Given the description of an element on the screen output the (x, y) to click on. 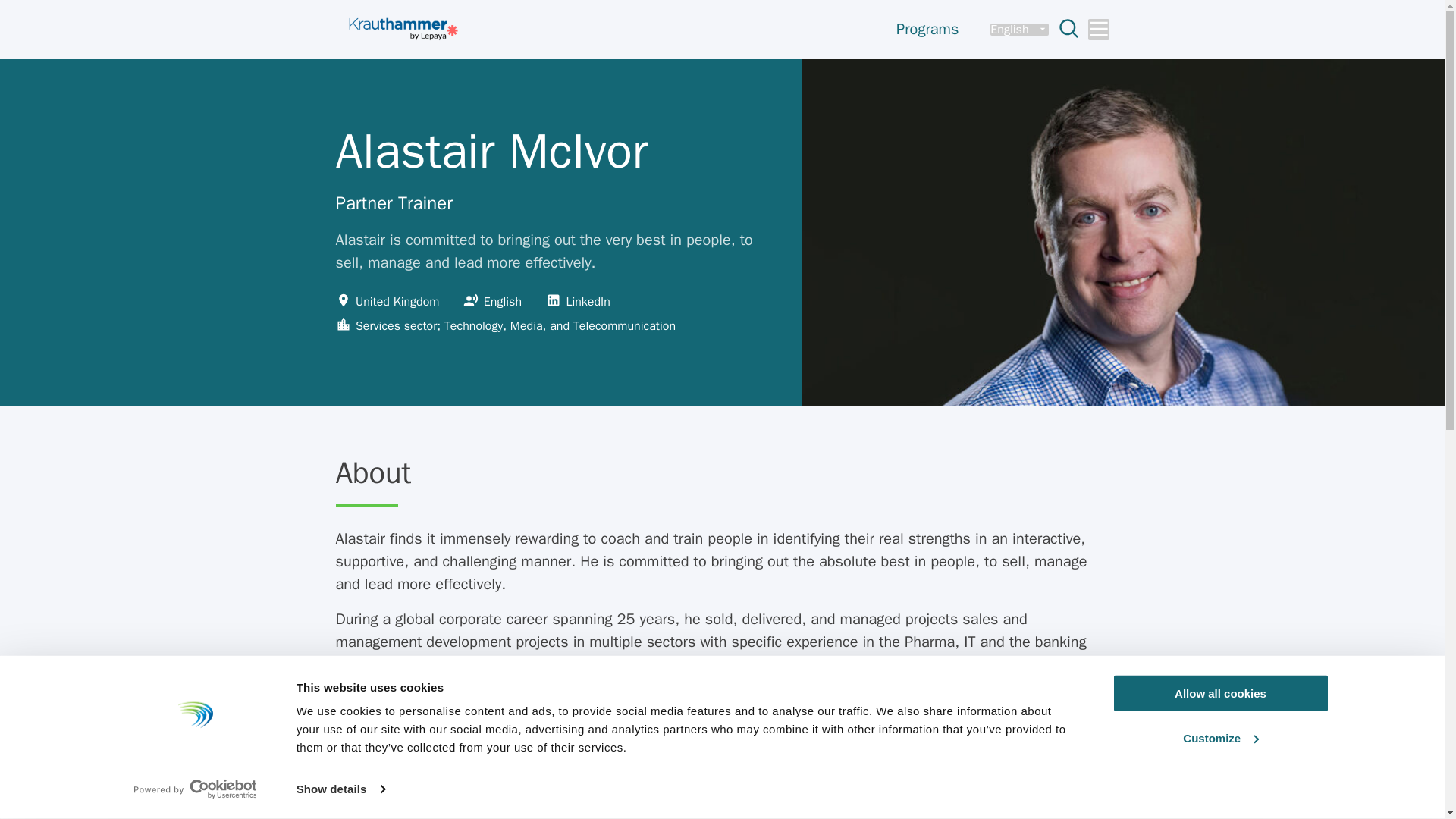
Show details (340, 789)
